Given the description of an element on the screen output the (x, y) to click on. 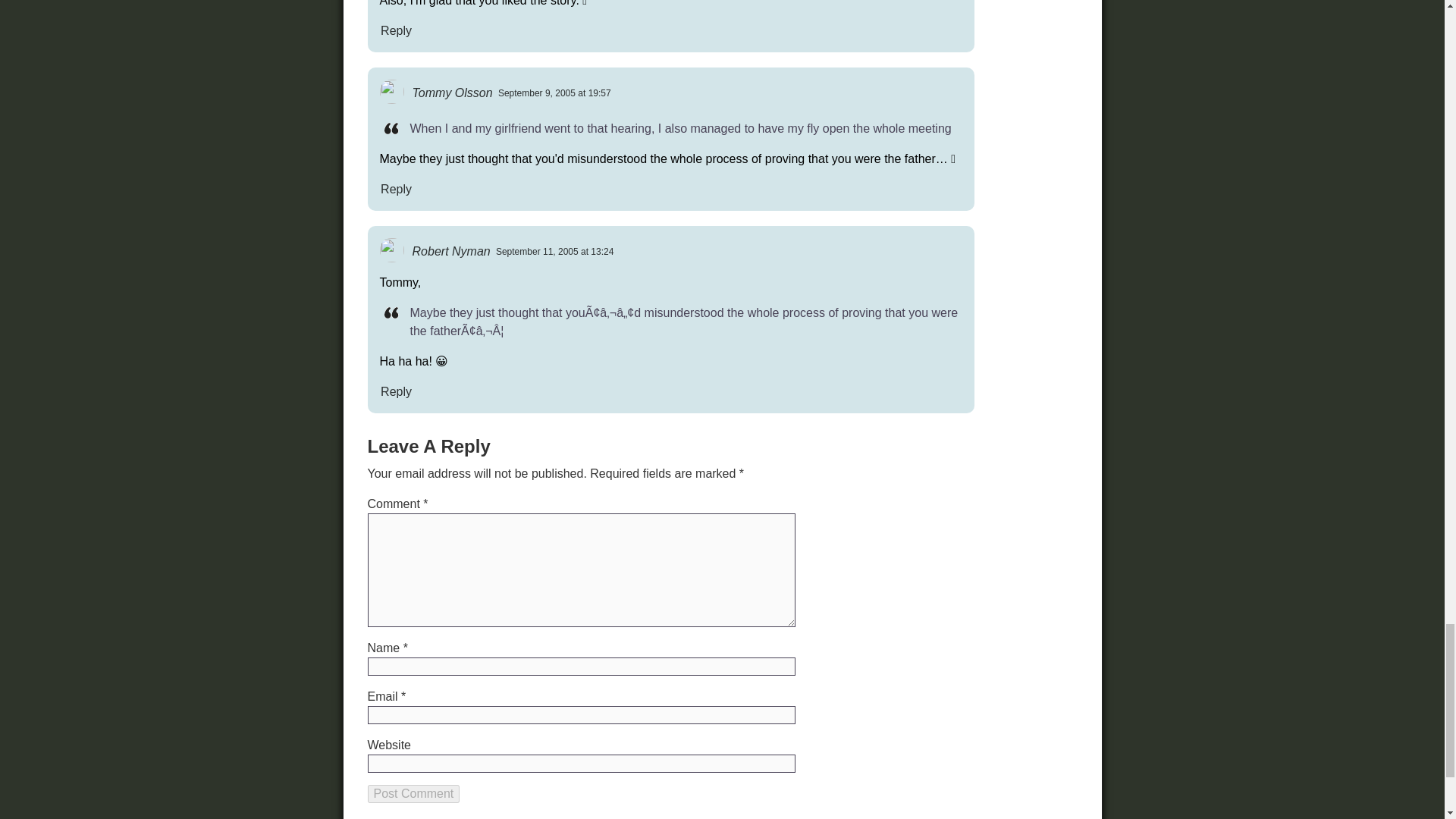
Robert Nyman (451, 250)
Tommy Olsson (451, 92)
Post Comment (413, 793)
Reply (395, 29)
Reply (395, 188)
September 9, 2005 at 19:57 (554, 92)
